Given the description of an element on the screen output the (x, y) to click on. 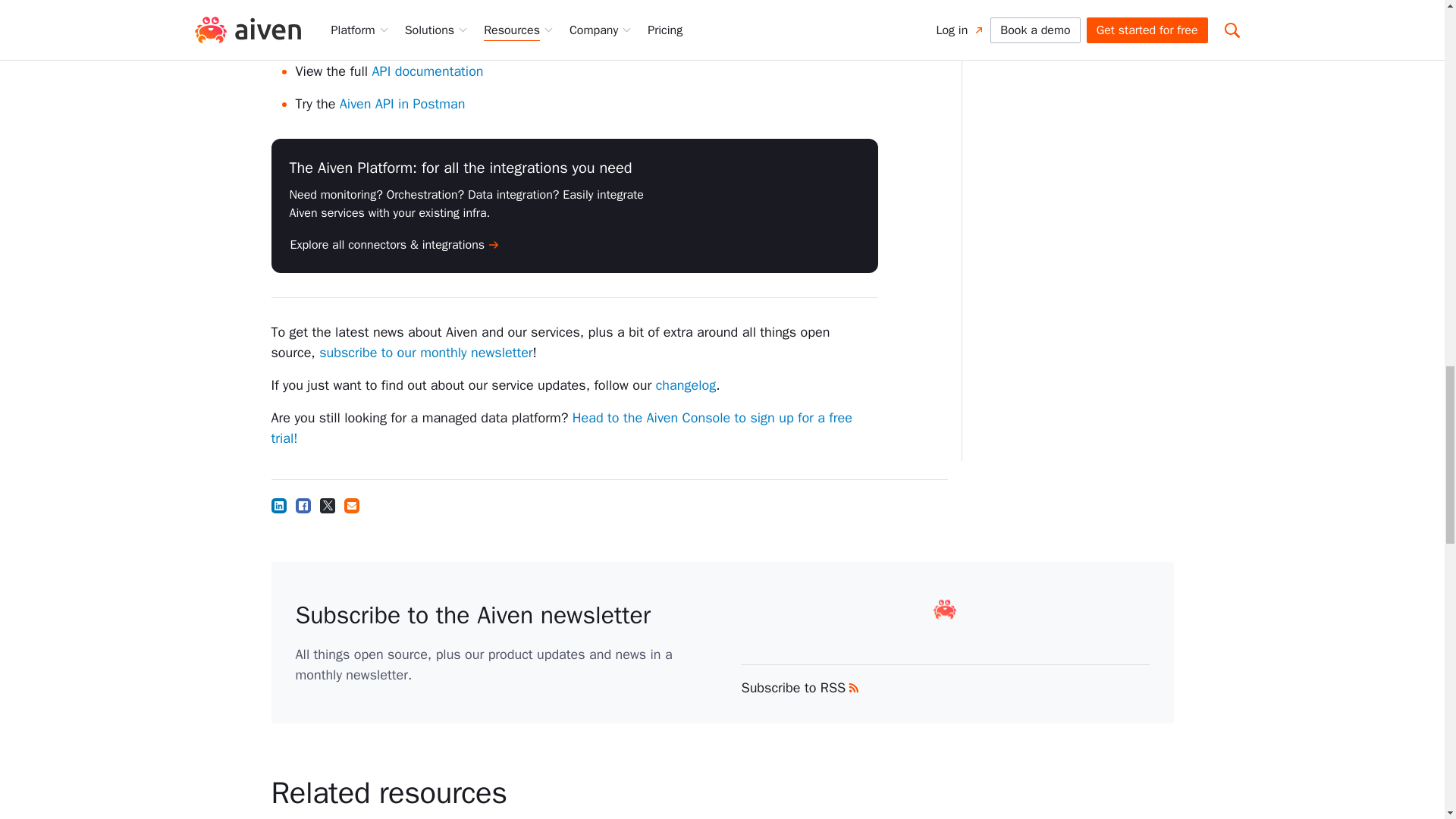
Share on LinkedIn (278, 505)
Share via Email (351, 505)
Share on Twitter (327, 505)
Share on Facebook (303, 505)
